Given the description of an element on the screen output the (x, y) to click on. 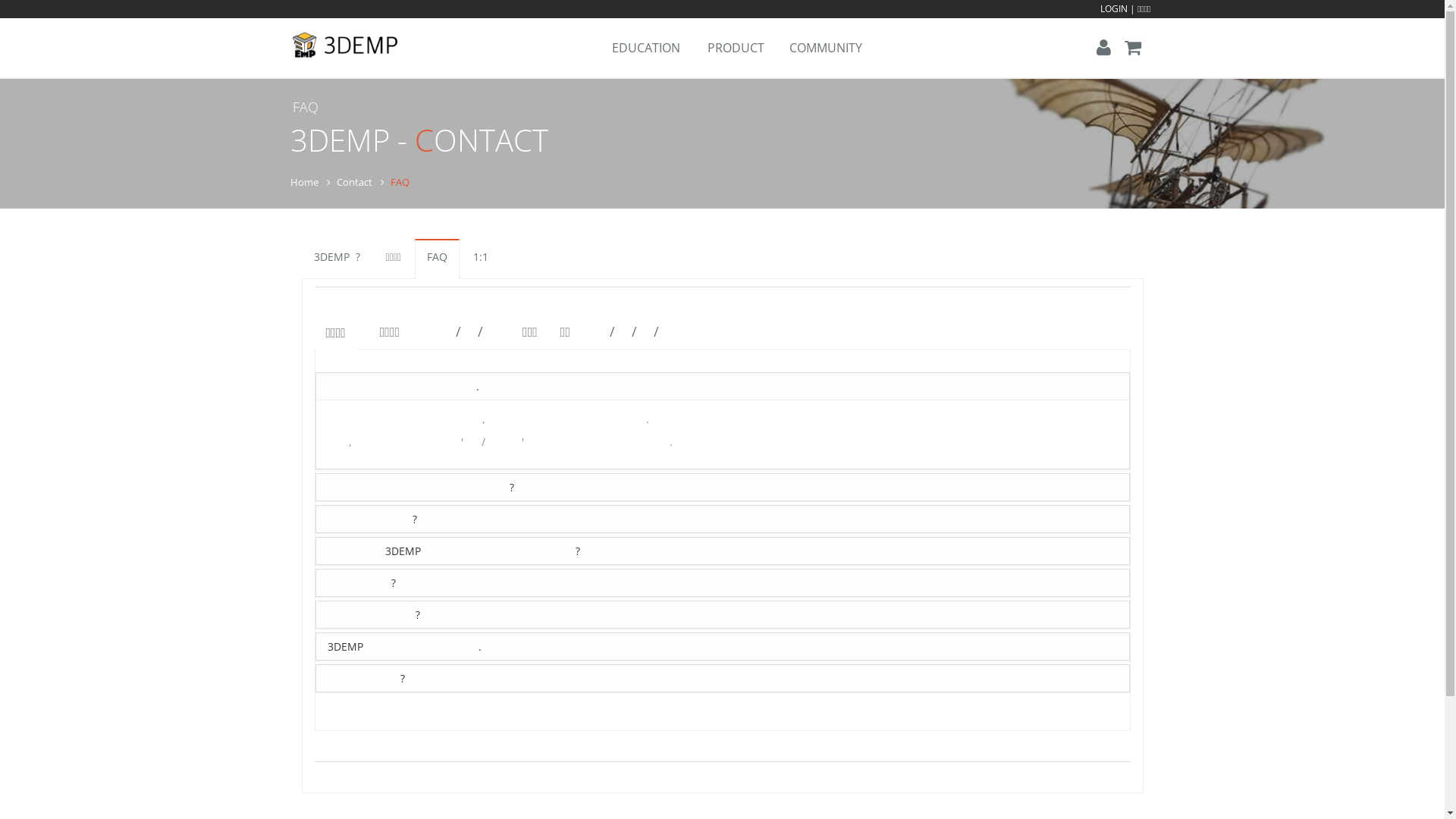
PRODUCT Element type: text (734, 47)
LOGIN Element type: text (1113, 8)
COMMUNITY Element type: text (825, 47)
Home Element type: text (303, 181)
Contact Element type: text (354, 181)
EDUCATION Element type: text (645, 47)
FAQ Element type: text (436, 258)
